Given the description of an element on the screen output the (x, y) to click on. 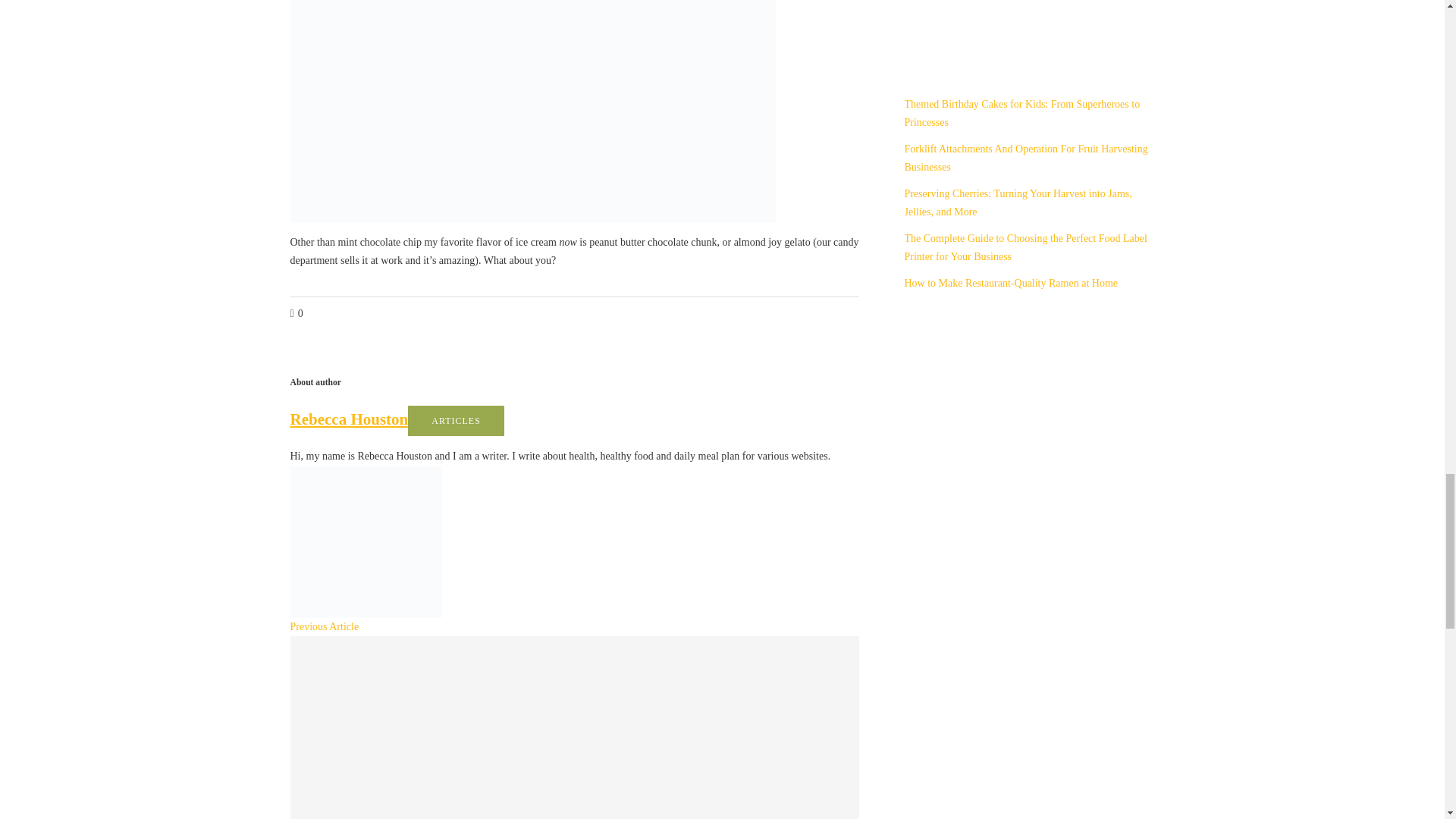
Rebecca Houston (348, 419)
Posts by Rebecca Houston (348, 419)
ARTICLES (455, 420)
